Given the description of an element on the screen output the (x, y) to click on. 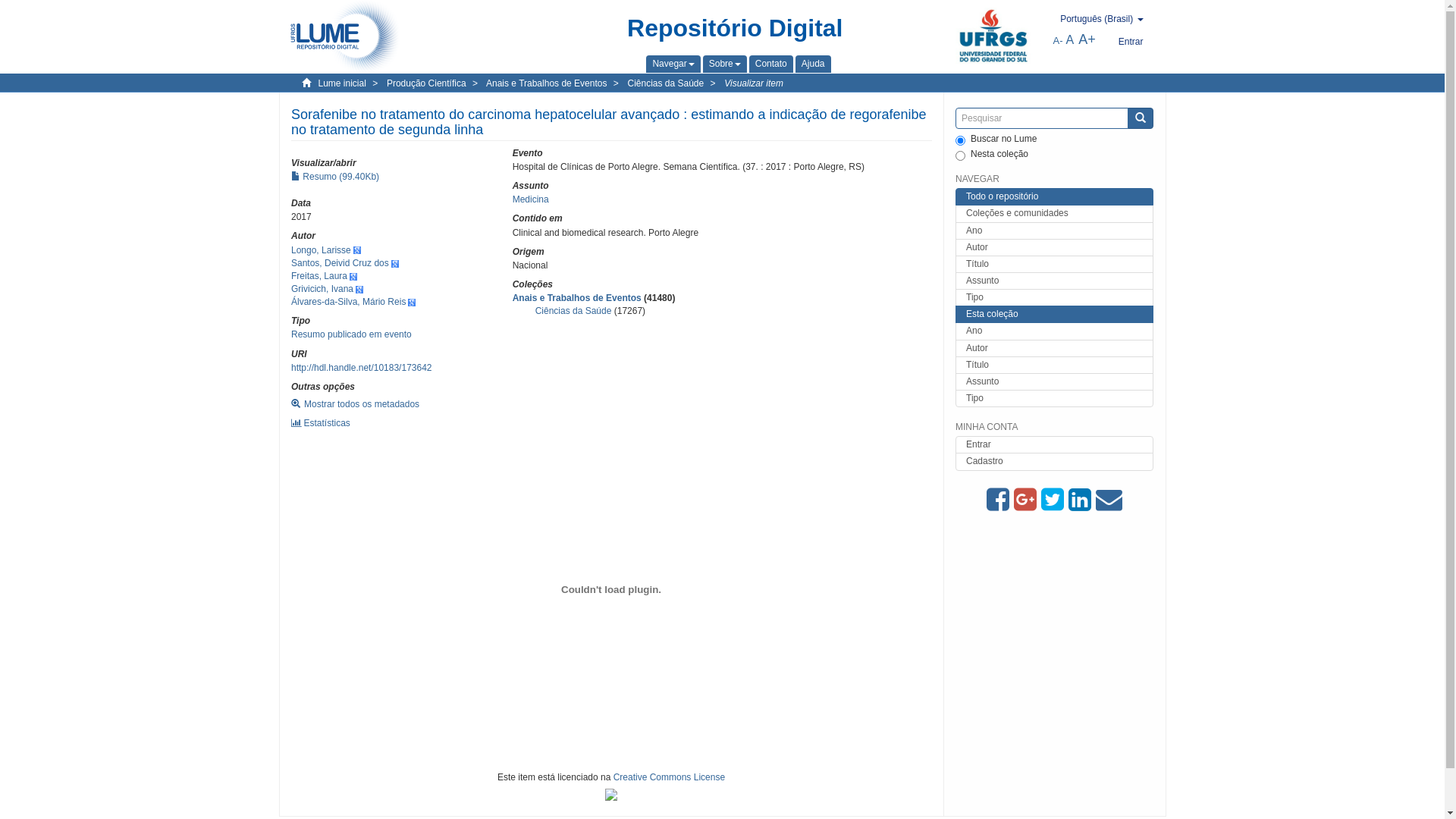
Ano Element type: text (1054, 230)
Ano Element type: text (1054, 330)
Anais e Trabalhos de Eventos Element type: text (546, 83)
Entrar Element type: text (1054, 444)
Cadastro Element type: text (1054, 461)
Santos, Deivid Cruz dos Element type: text (340, 262)
Entrar Element type: text (1130, 41)
UFRGS Element type: hover (993, 36)
Contato Element type: text (771, 63)
Autor Element type: text (1054, 247)
Enviar Element type: hover (1139, 117)
Mostrar todos os metadados Element type: text (355, 403)
A Element type: text (1070, 39)
Compartilhe no Google+ Element type: hover (1027, 499)
A+ Element type: text (1086, 39)
Lume inicial Element type: text (342, 83)
Creative Commons License Element type: text (668, 776)
Tipo Element type: text (1054, 398)
Ajuda Element type: text (813, 63)
Compartilhar via Linkein Element type: hover (1081, 499)
Navegar Element type: text (672, 63)
Visualizar item Element type: text (753, 83)
Assunto Element type: text (1054, 381)
Resumo (99.40Kb) Element type: text (335, 176)
Compartilhe no twitter Element type: hover (1054, 499)
Longo, Larisse Element type: text (321, 249)
Grivicich, Ivana Element type: text (322, 288)
Freitas, Laura Element type: text (319, 275)
Autor Element type: text (1054, 348)
Medicina Element type: text (529, 199)
Assunto Element type: text (1054, 280)
http://hdl.handle.net/10183/173642 Element type: text (361, 367)
Resumo publicado em evento Element type: text (351, 334)
A- Element type: text (1058, 40)
Compartilhe no Facebook Element type: hover (999, 499)
Sobre Element type: text (724, 63)
Compartilhar via E-mail Element type: hover (1109, 499)
Anais e Trabalhos de Eventos Element type: text (575, 297)
Tipo Element type: text (1054, 297)
